Given the description of an element on the screen output the (x, y) to click on. 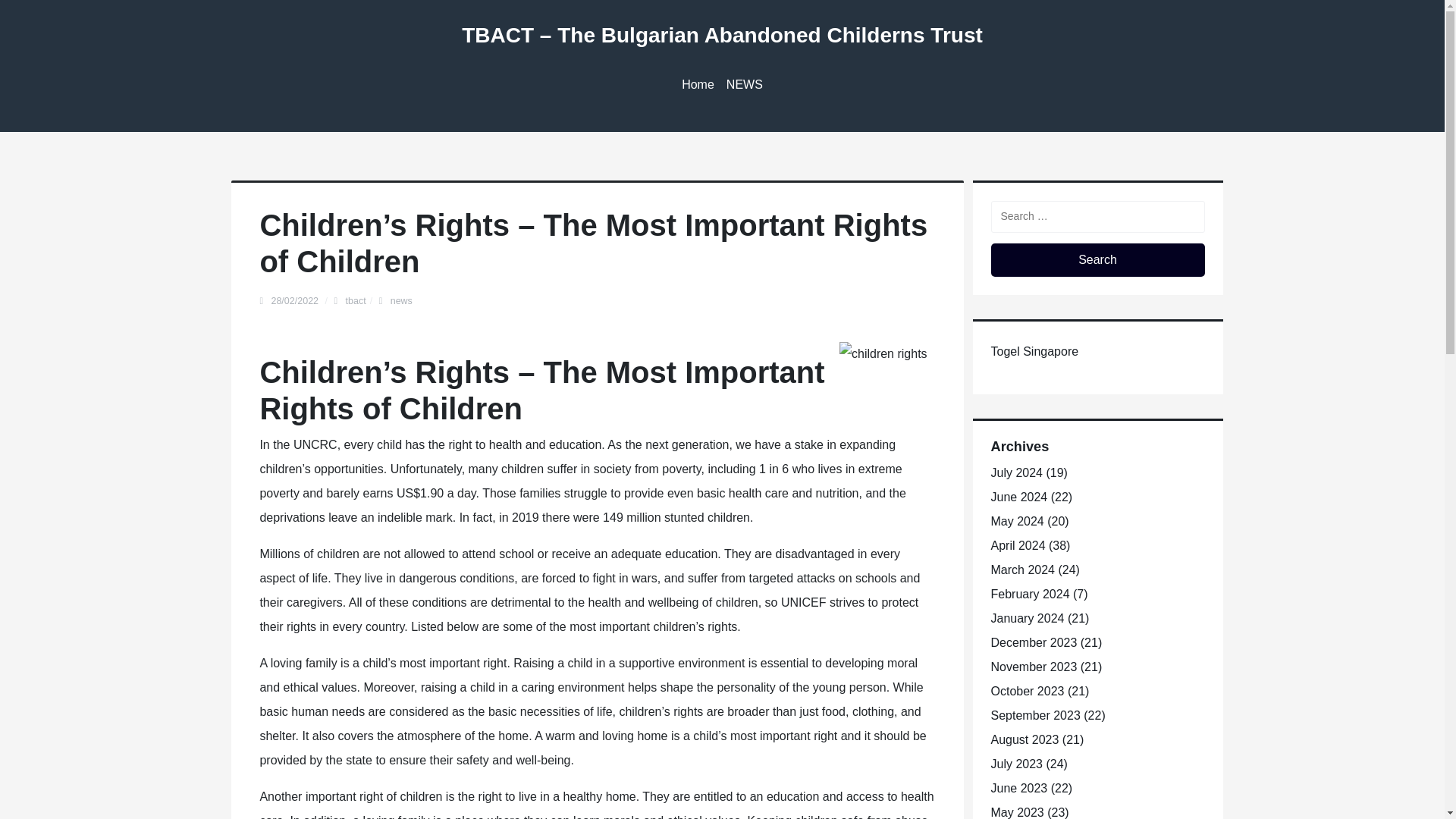
March 2024 (1022, 569)
May 2024 (1016, 521)
June 2023 (1018, 788)
July 2024 (1016, 472)
tbact (356, 300)
April 2024 (1017, 545)
NEWS (744, 84)
NEWS (744, 84)
December 2023 (1033, 642)
Home (697, 84)
August 2023 (1024, 739)
Search (1097, 259)
October 2023 (1027, 690)
June 2024 (1018, 496)
September 2023 (1035, 715)
